Given the description of an element on the screen output the (x, y) to click on. 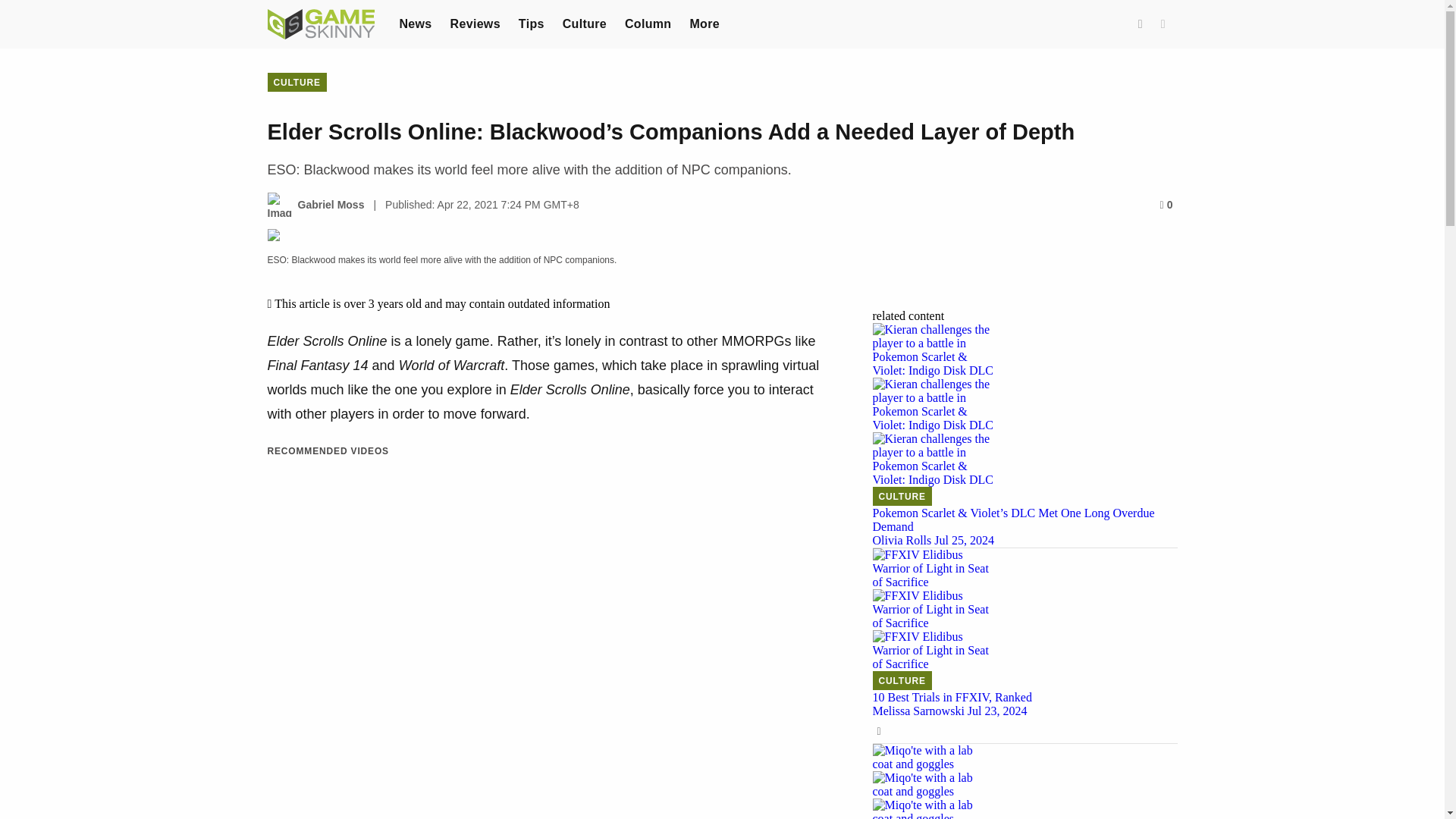
Column (647, 23)
Culture (584, 23)
News (414, 23)
Reviews (474, 23)
Tips (531, 23)
